Given the description of an element on the screen output the (x, y) to click on. 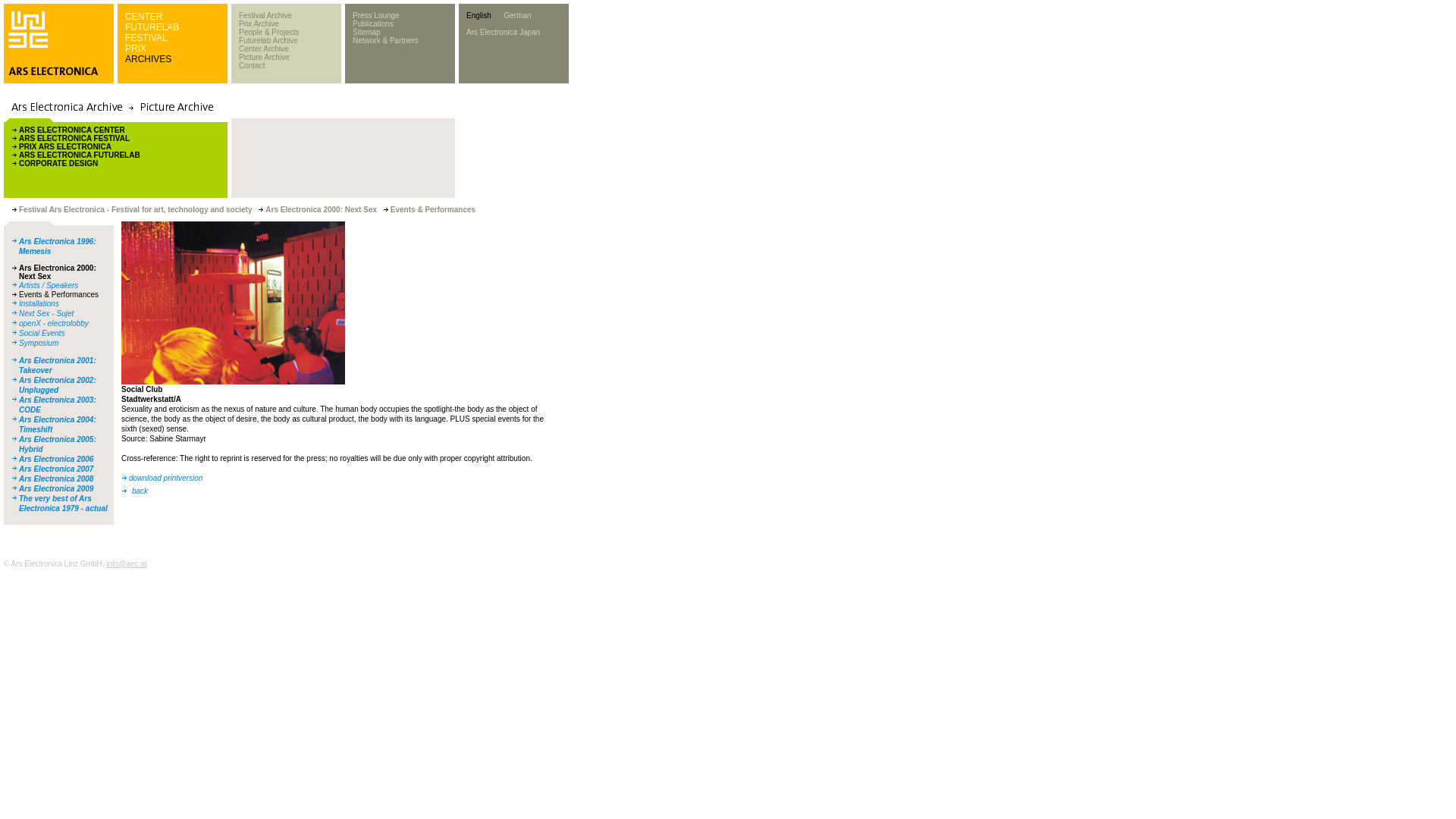
Symposium (38, 343)
Ars Electronica Japan (502, 31)
CENTER (143, 16)
FUTURELAB (152, 27)
Futurelab Archive (268, 40)
Ars Electronica 2001: Takeover (57, 365)
Sitemap (366, 31)
ARS ELECTRONICA FESTIVAL (73, 138)
German (517, 15)
Ars Electronica 2003: CODE (57, 404)
CORPORATE DESIGN (57, 162)
ARS ELECTRONICA CENTER (71, 130)
ARCHIVES (148, 59)
English (478, 15)
Press Lounge (375, 15)
